Given the description of an element on the screen output the (x, y) to click on. 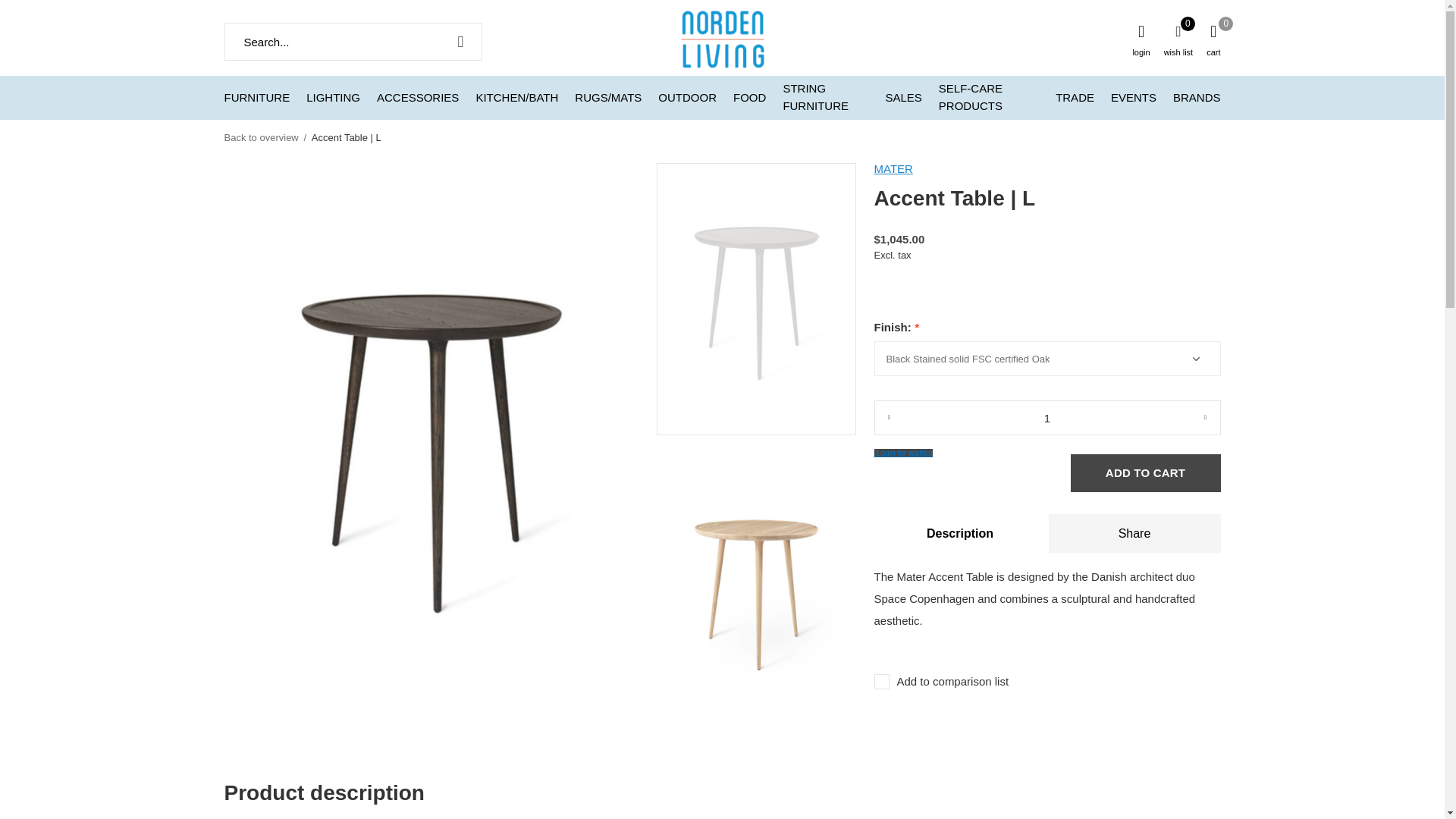
FURNITURE (256, 96)
LIGHTING (332, 96)
1 (1046, 417)
